Given the description of an element on the screen output the (x, y) to click on. 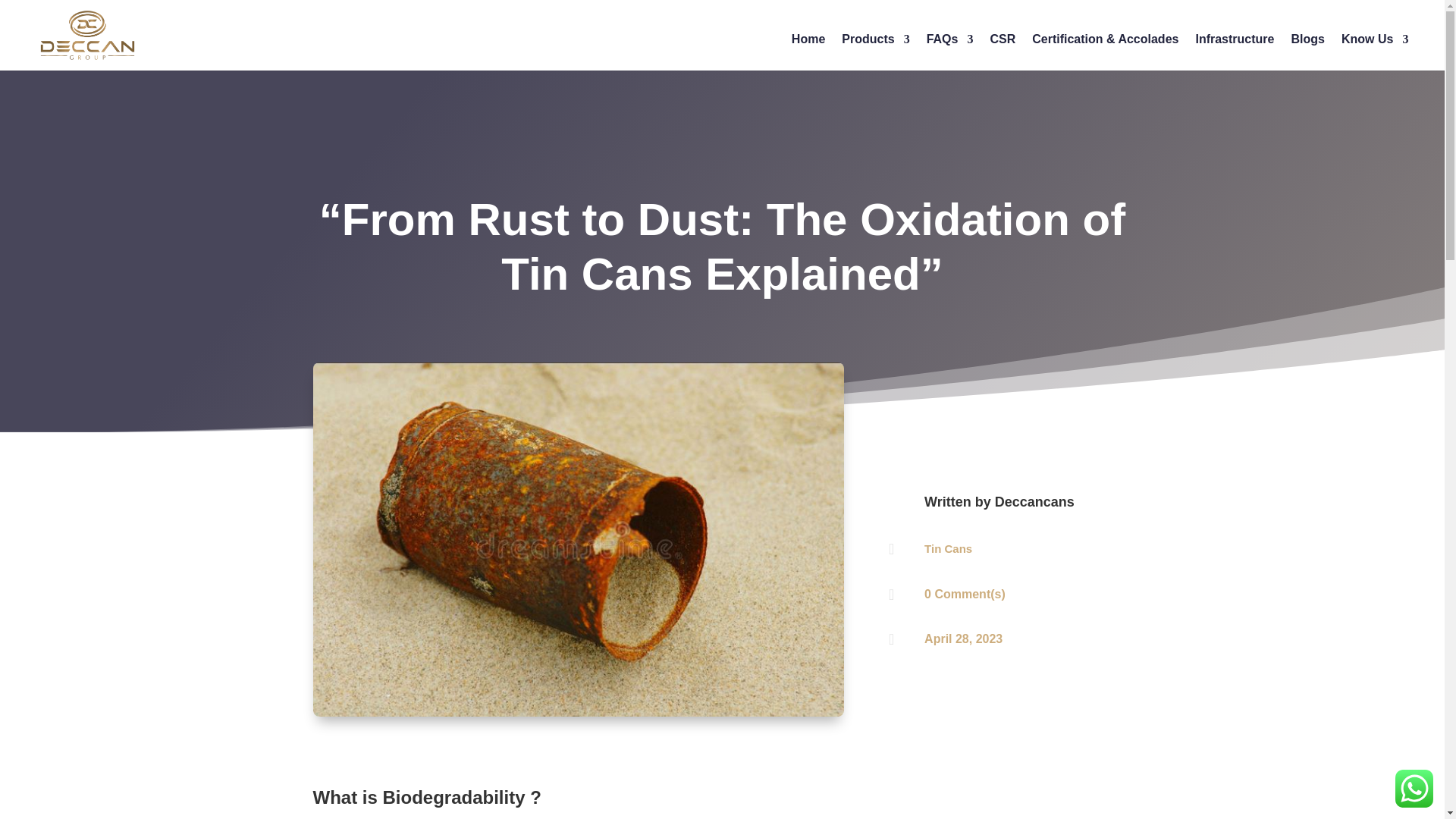
Products (874, 45)
Blogs (1306, 45)
Home (808, 45)
Know Us (1373, 45)
Infrastructure (1234, 45)
FAQs (950, 45)
CSR (1002, 45)
